Given the description of an element on the screen output the (x, y) to click on. 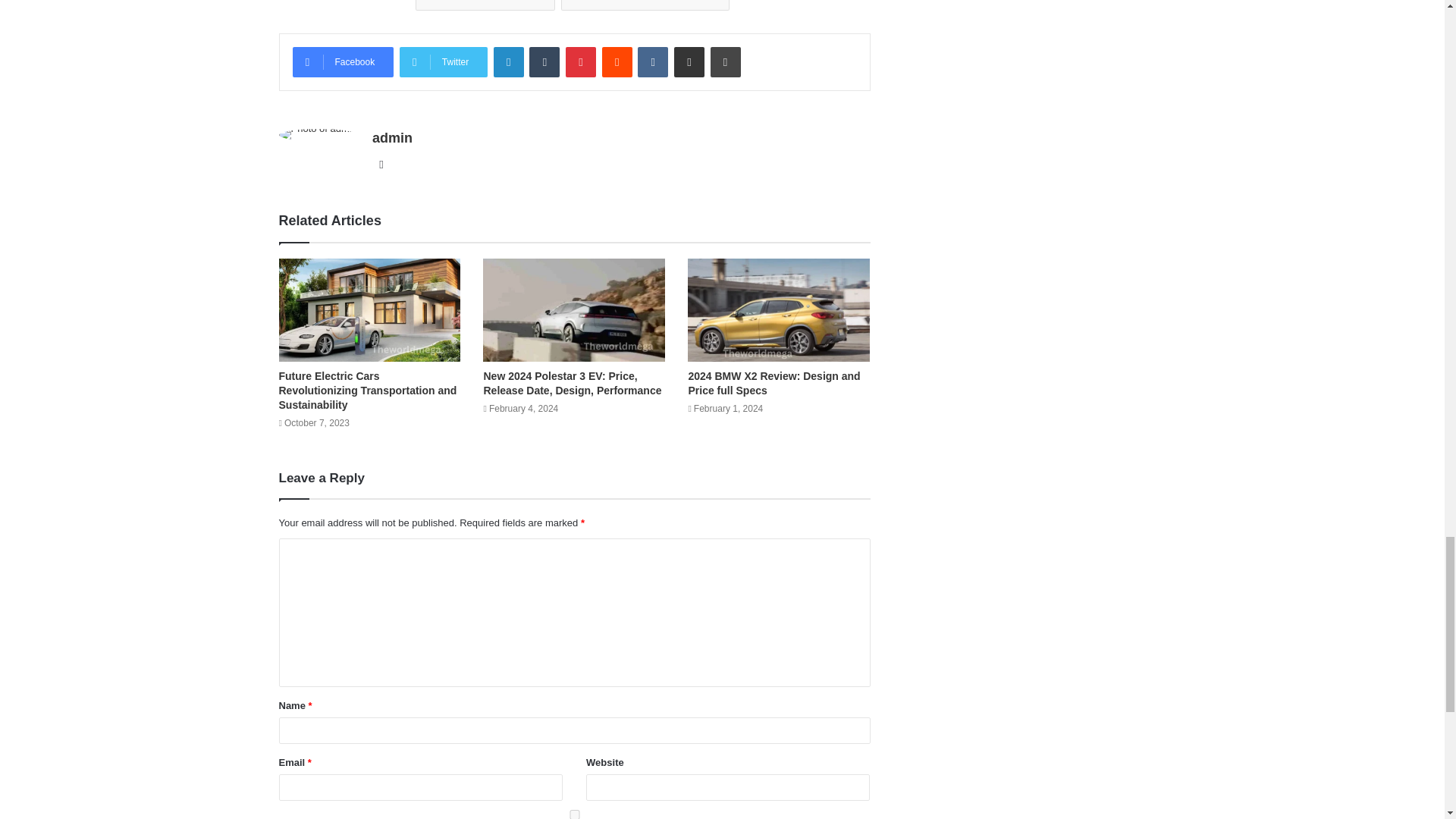
Facebook (343, 61)
Reddit (616, 61)
Twitter (442, 61)
2024 Mazda 6 AWD (484, 5)
Tumblr (544, 61)
Twitter (442, 61)
yes (574, 814)
Share via Email (689, 61)
LinkedIn (508, 61)
Print (725, 61)
